Given the description of an element on the screen output the (x, y) to click on. 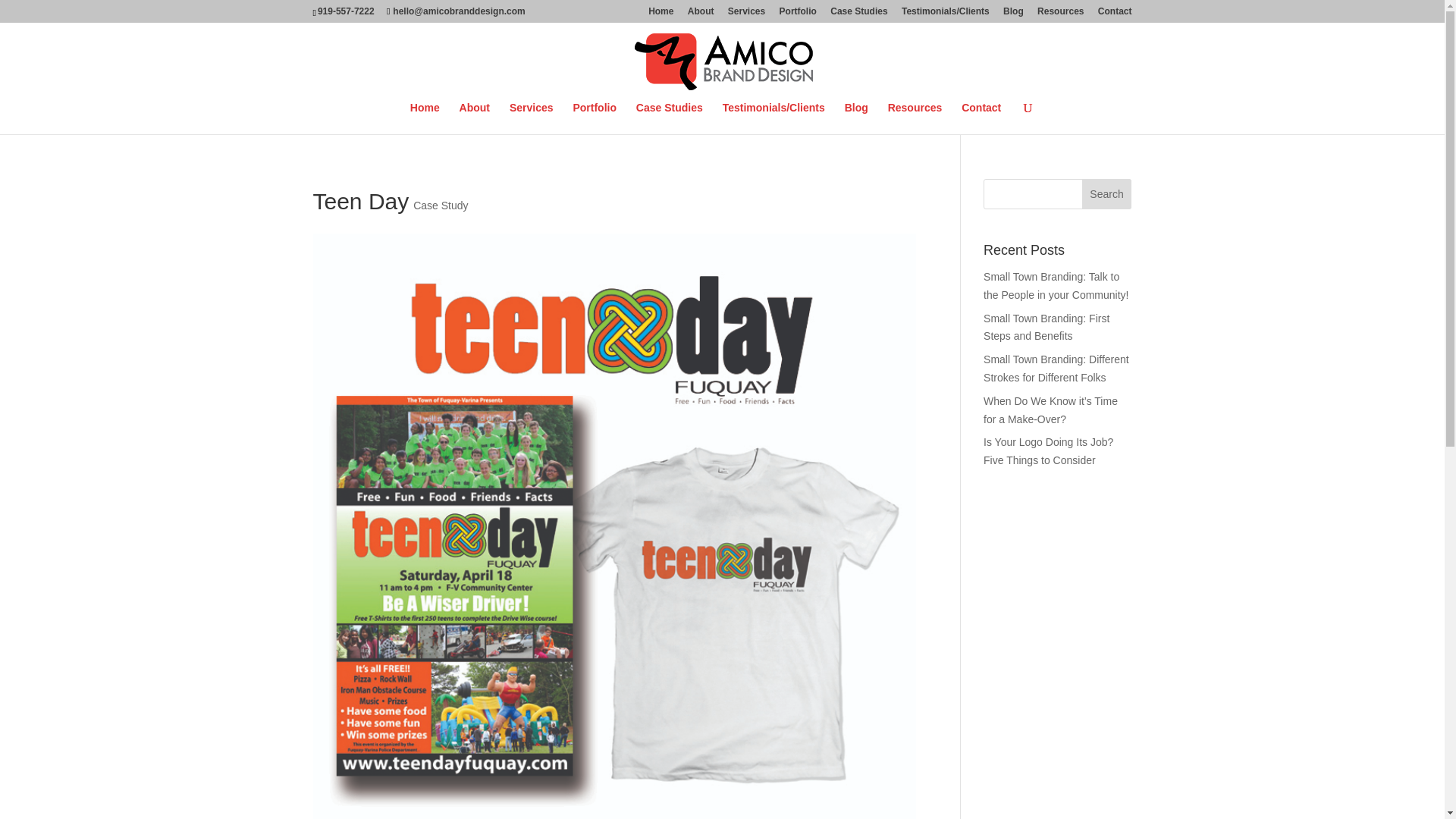
Case Study (440, 205)
Portfolio (797, 14)
Case Studies (669, 118)
Home (424, 118)
Search (1106, 194)
About (700, 14)
Blog (1013, 14)
Services (746, 14)
Resources (1059, 14)
Resources (915, 118)
